Given the description of an element on the screen output the (x, y) to click on. 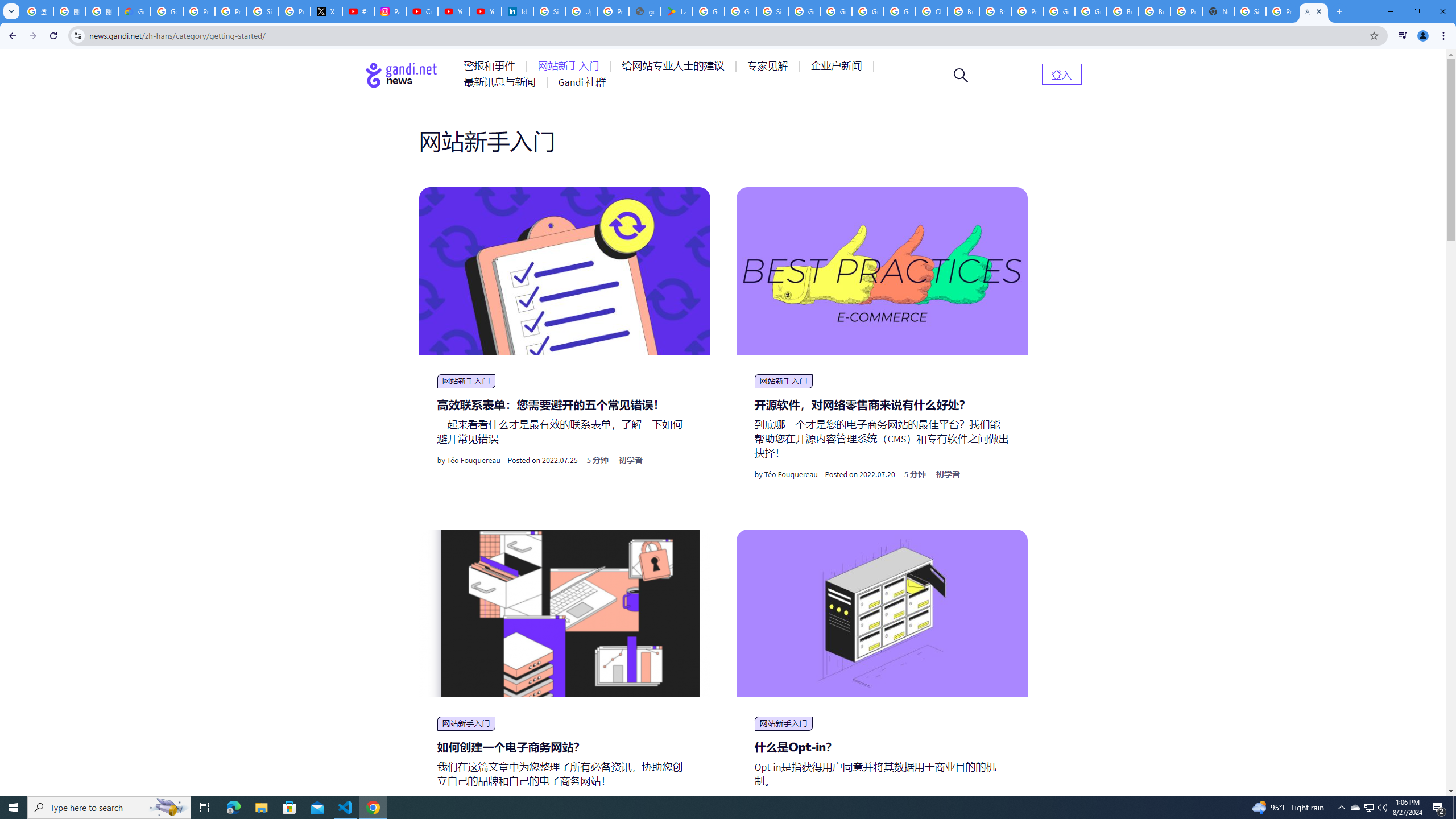
New Tab (1217, 11)
Last Shelter: Survival - Apps on Google Play (676, 11)
